Given the description of an element on the screen output the (x, y) to click on. 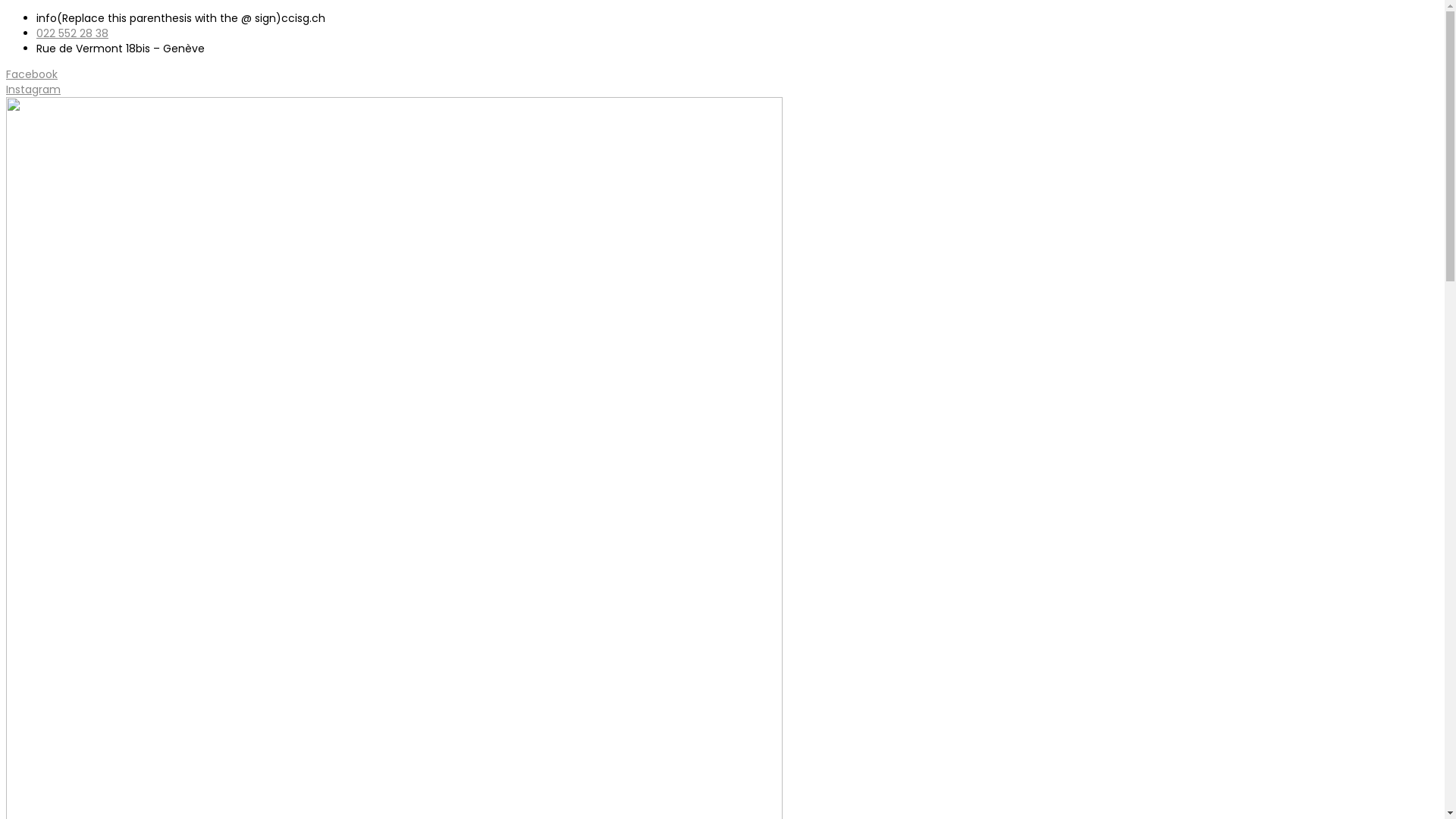
022 552 28 38 Element type: text (72, 32)
Facebook Element type: text (31, 73)
Instagram Element type: text (33, 89)
